Given the description of an element on the screen output the (x, y) to click on. 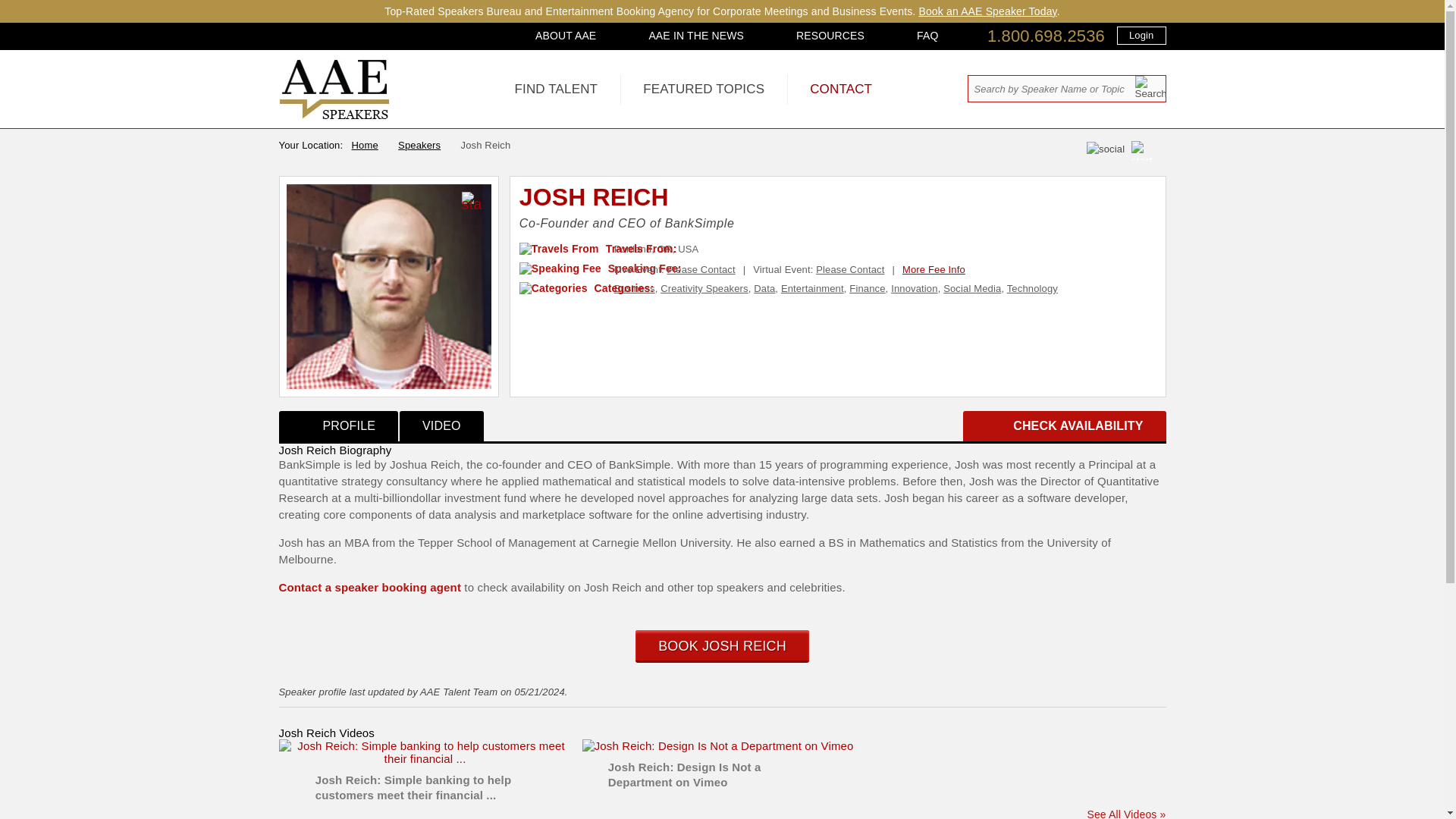
All American Speakers Bureau and Celebrity Booking Agency (334, 115)
Book an AAE Speaker Today (987, 10)
1.800.698.2536 (1046, 35)
ABOUT AAE (565, 34)
Search (1150, 87)
Login (1141, 35)
AAE IN THE NEWS (695, 34)
FAQ (927, 34)
RESOURCES (829, 34)
